Given the description of an element on the screen output the (x, y) to click on. 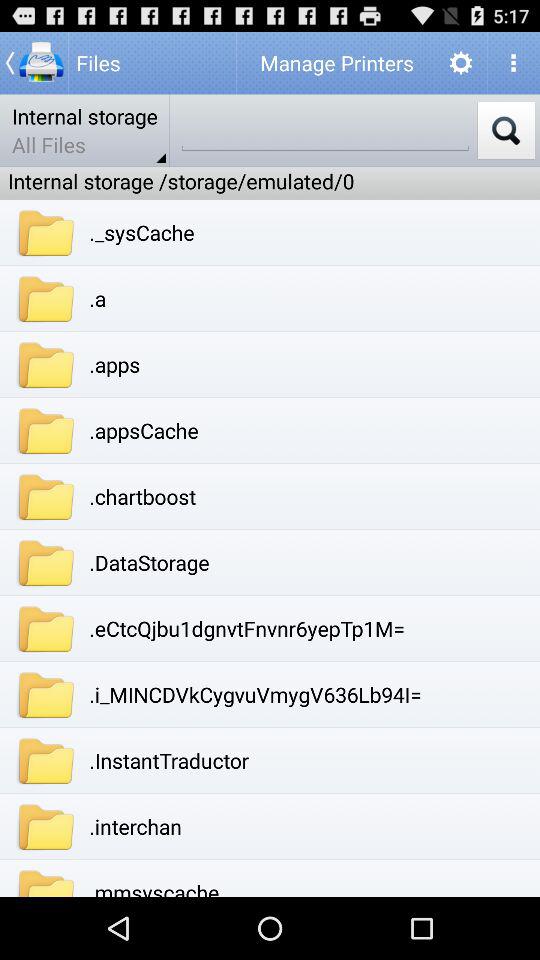
turn off the app above .mmsyscache (135, 826)
